Given the description of an element on the screen output the (x, y) to click on. 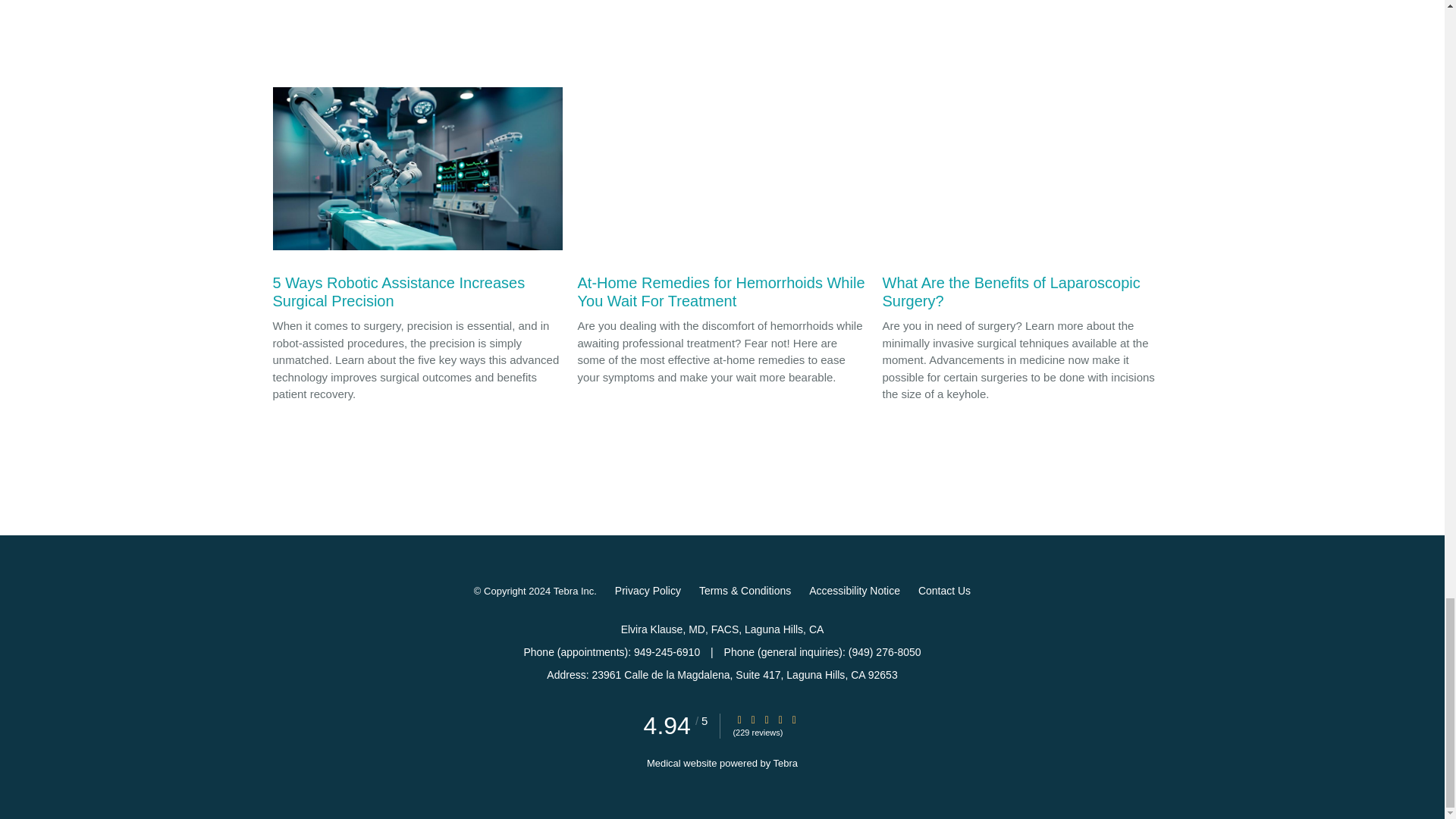
Star Rating (753, 719)
Star Rating (766, 719)
Star Rating (780, 719)
Star Rating (794, 719)
Star Rating (738, 719)
